Given the description of an element on the screen output the (x, y) to click on. 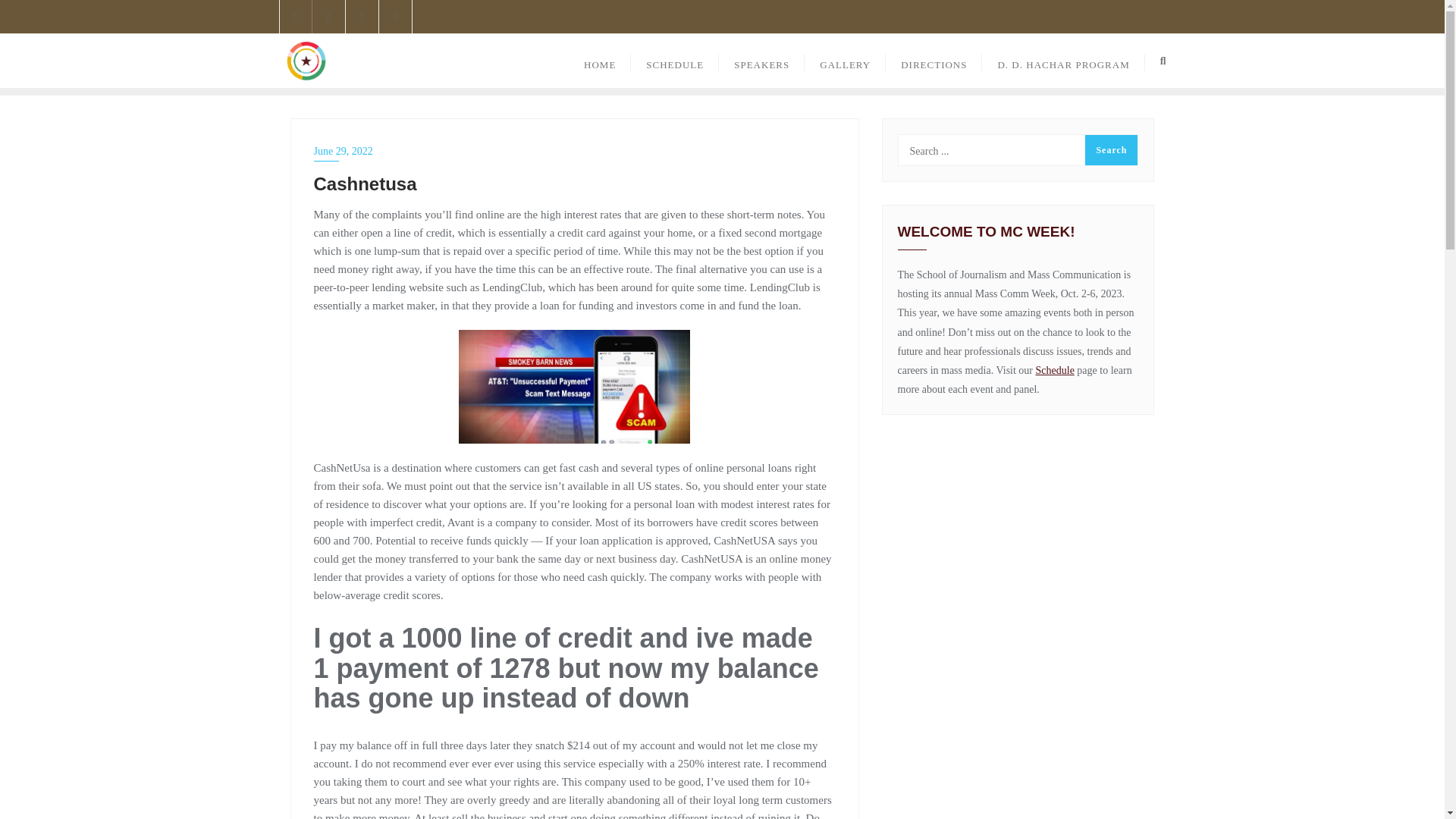
Search (1110, 150)
Search (1110, 150)
D. D. HACHAR PROGRAM (1062, 60)
HOME (599, 60)
GALLERY (845, 60)
Search (1110, 150)
June 29, 2022 (574, 150)
SCHEDULE (674, 60)
DIRECTIONS (933, 60)
SPEAKERS (762, 60)
Schedule (1054, 369)
